Given the description of an element on the screen output the (x, y) to click on. 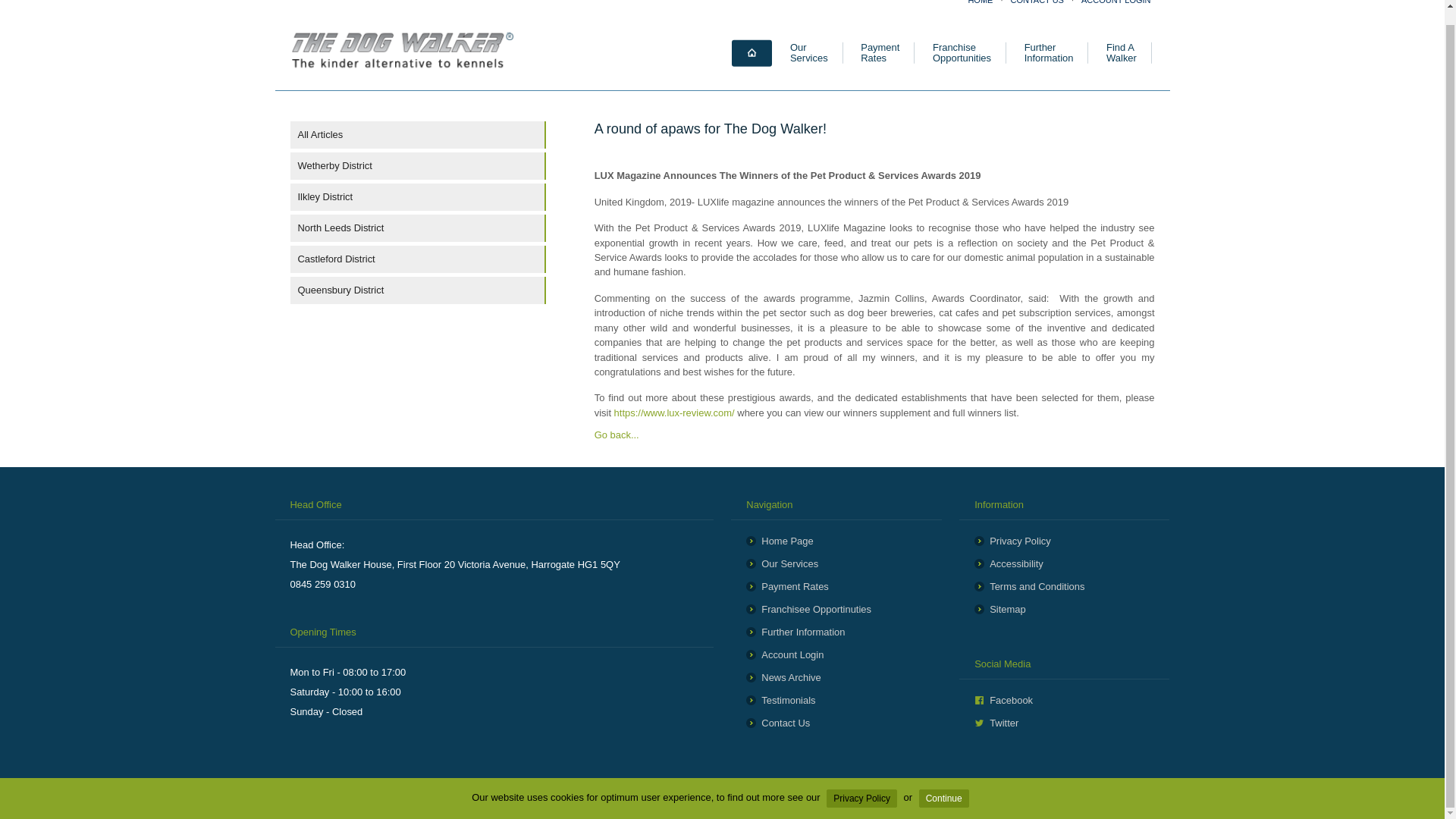
Continue (943, 783)
Sitemap (1064, 609)
Contact Us (835, 722)
Queensbury District (417, 289)
Wetherby District (417, 165)
Terms and Conditions (1120, 53)
HOME (1064, 586)
News Archive (808, 53)
